Given the description of an element on the screen output the (x, y) to click on. 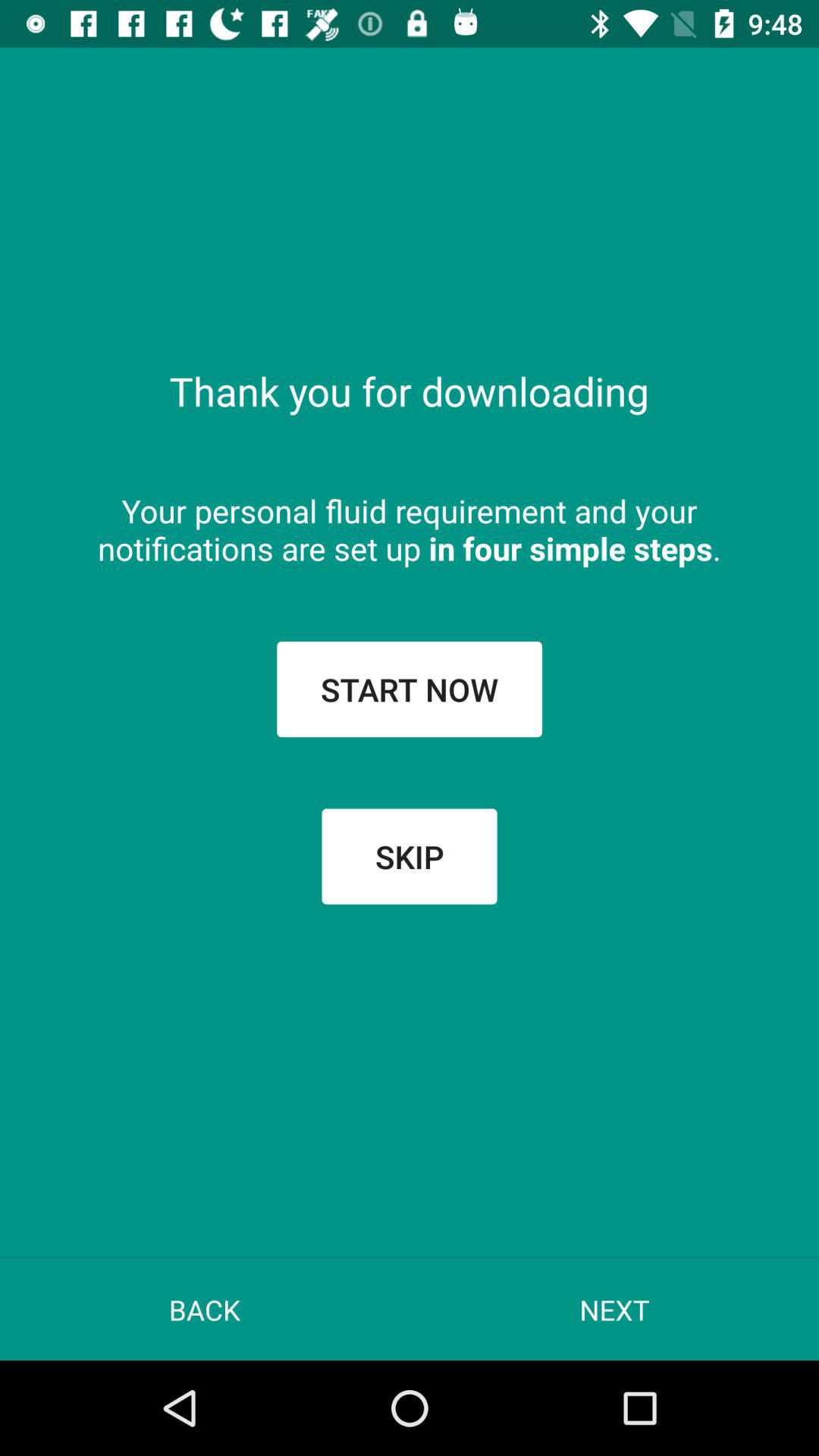
choose the app at the bottom left corner (204, 1309)
